Given the description of an element on the screen output the (x, y) to click on. 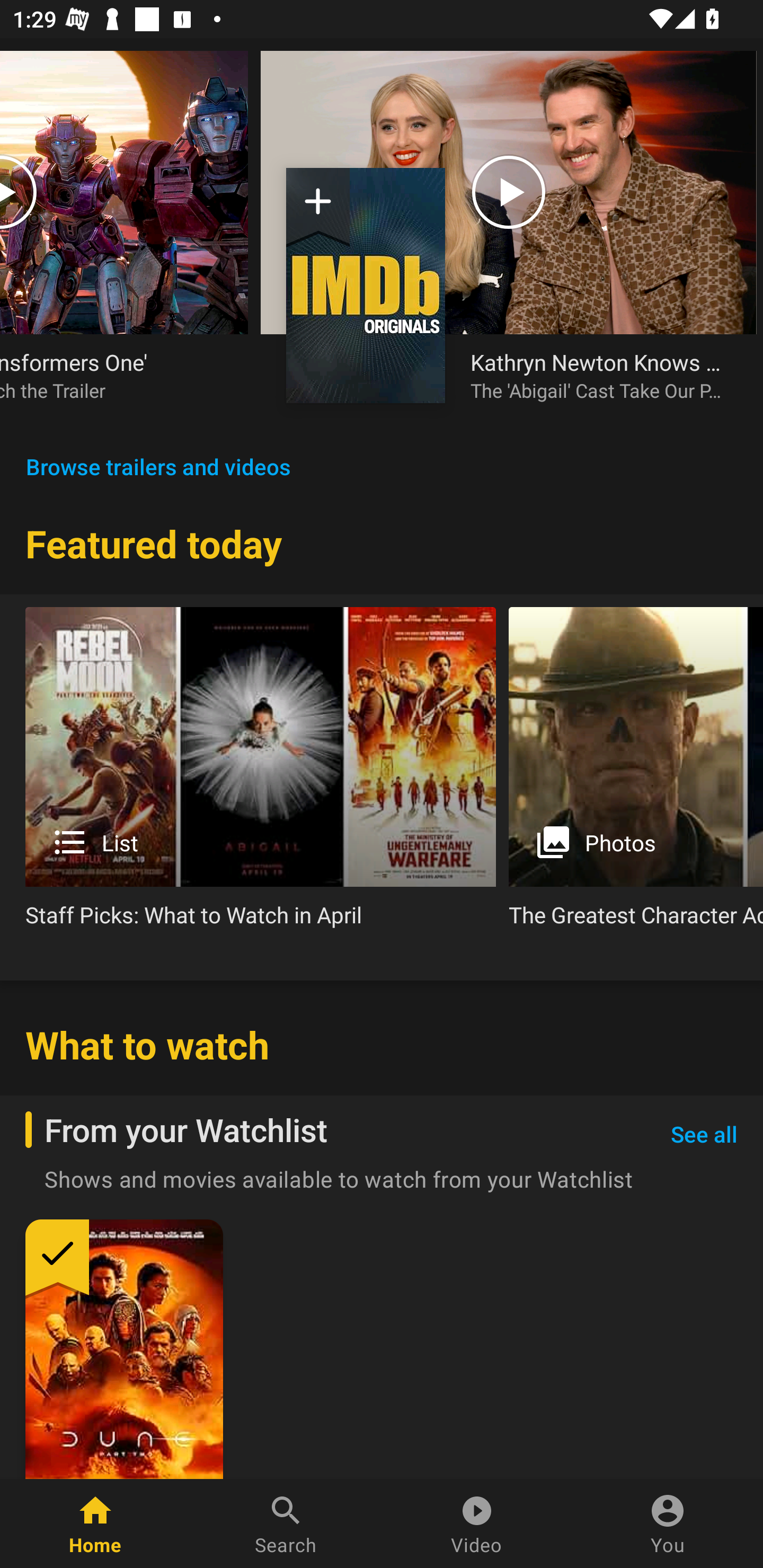
Not in watchlist (365, 284)
Not in watchlist (317, 207)
List Staff Picks: What to Watch in April (260, 774)
Photos The Greatest Character Actors of All Time (635, 774)
See all See all From your Watchlist (703, 1134)
Search (285, 1523)
Video (476, 1523)
You (667, 1523)
